Given the description of an element on the screen output the (x, y) to click on. 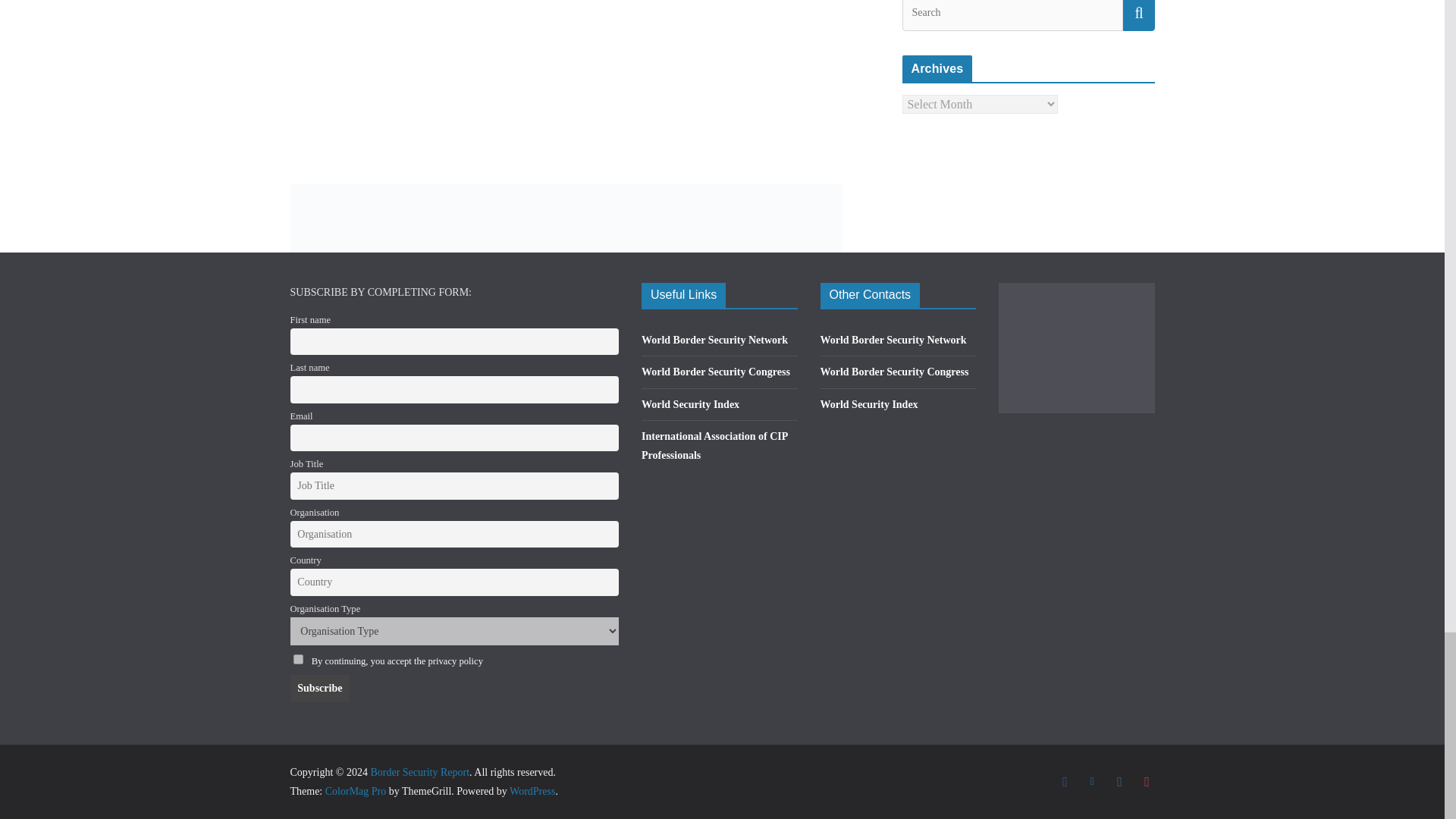
Border Security Report (418, 772)
ColorMag Pro (355, 790)
on (297, 659)
WordPress (531, 790)
Subscribe (319, 687)
